Given the description of an element on the screen output the (x, y) to click on. 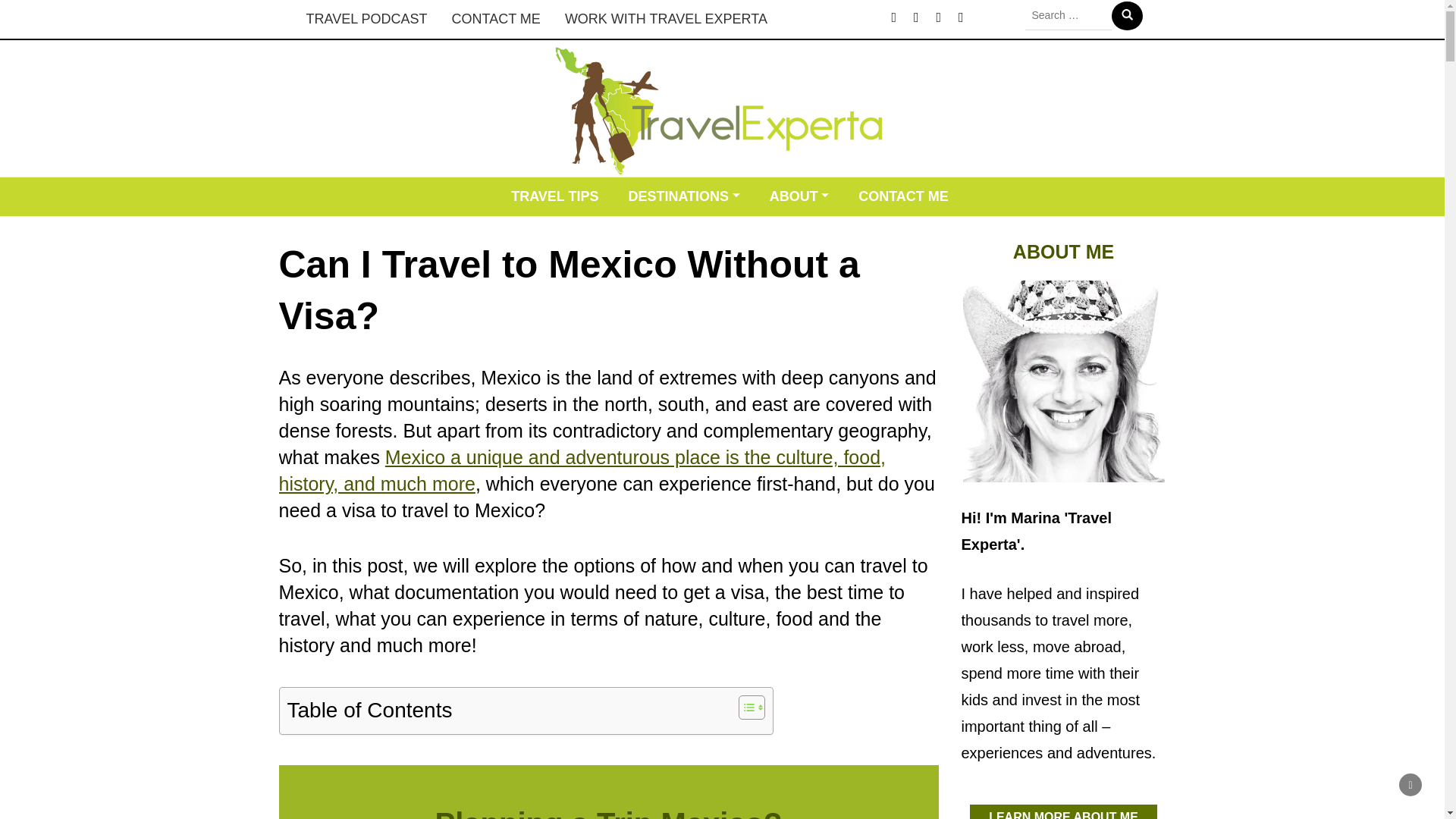
TRAVEL TIPS (554, 196)
Search (1126, 15)
CONTACT ME (902, 196)
Search (1126, 15)
TRAVEL PODCAST (366, 19)
WORK WITH TRAVEL EXPERTA (665, 19)
DESTINATIONS (683, 196)
Search for: (1068, 15)
CONTACT ME (496, 19)
ABOUT (799, 196)
Search (1126, 15)
